Given the description of an element on the screen output the (x, y) to click on. 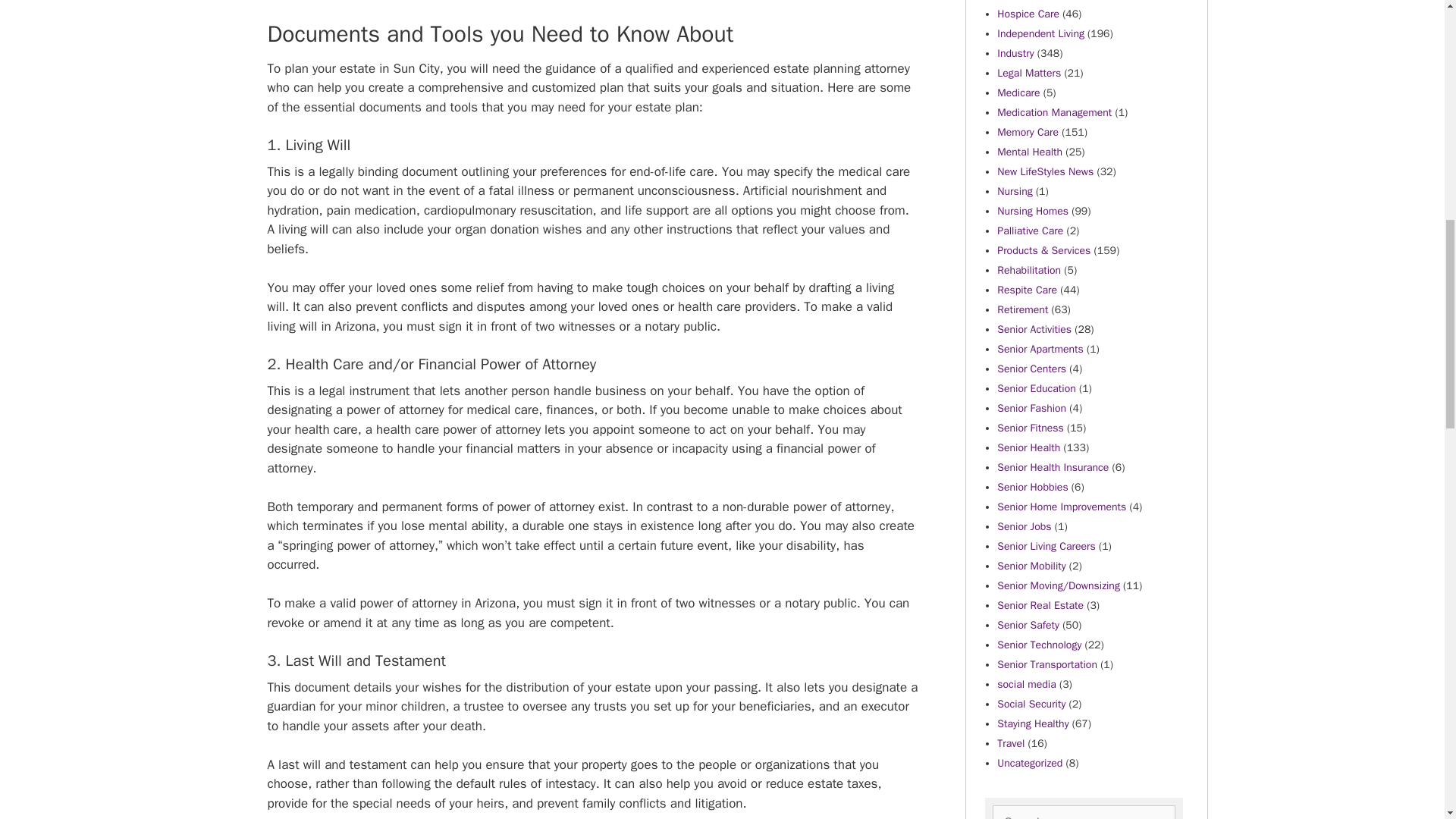
Search for: (1082, 812)
